Given the description of an element on the screen output the (x, y) to click on. 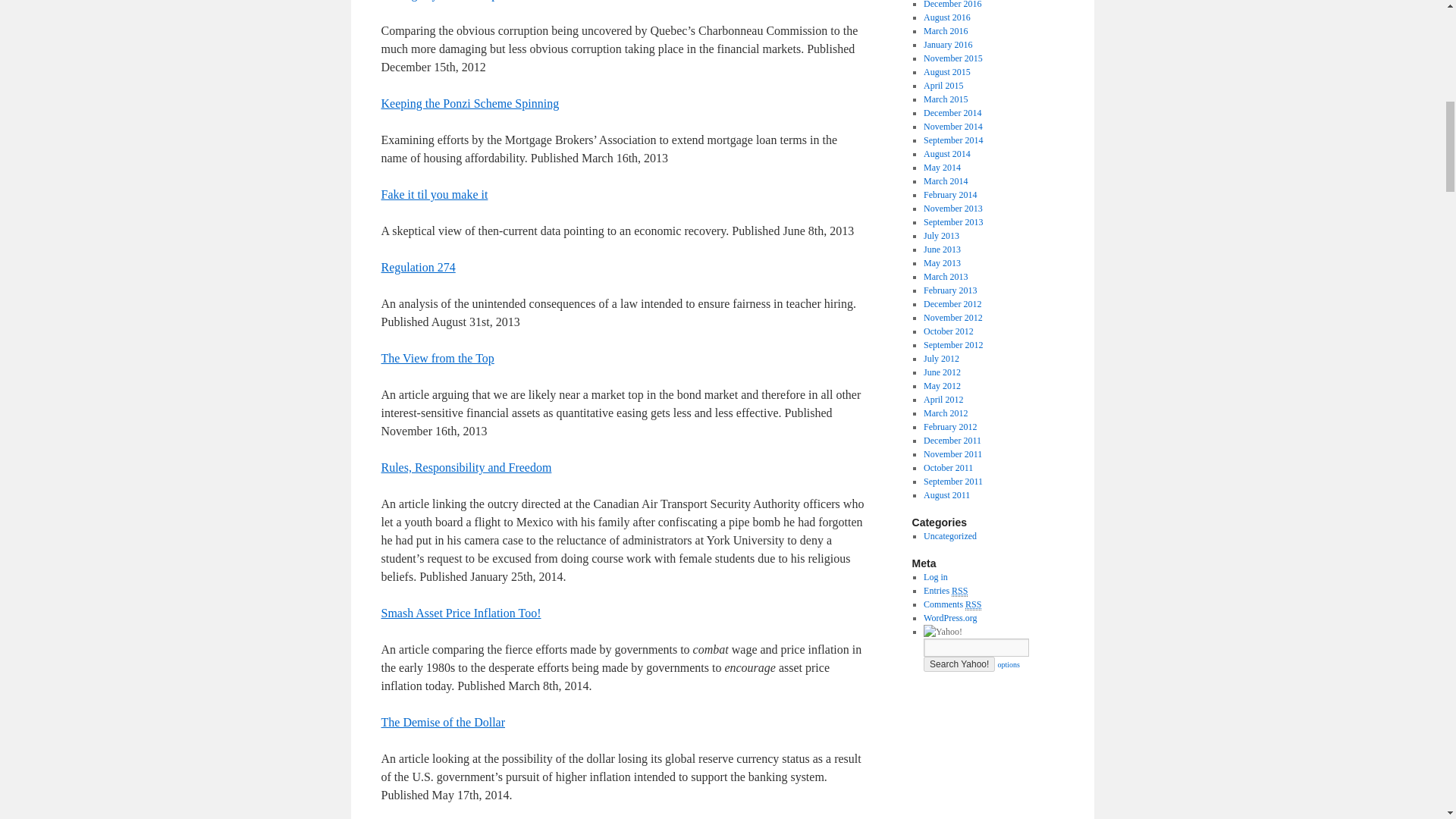
Search Yahoo! (958, 663)
Really Simple Syndication (973, 604)
Really Simple Syndication (960, 591)
Rules, Responsibility and Freedom (465, 467)
Keeping the Ponzi Scheme Spinning (469, 103)
The Demise of the Dollar (442, 721)
Fake it til you make it (433, 194)
Smash Asset Price Inflation Too! (460, 612)
The View from the Top (436, 358)
Regulation 274 (417, 267)
